Given the description of an element on the screen output the (x, y) to click on. 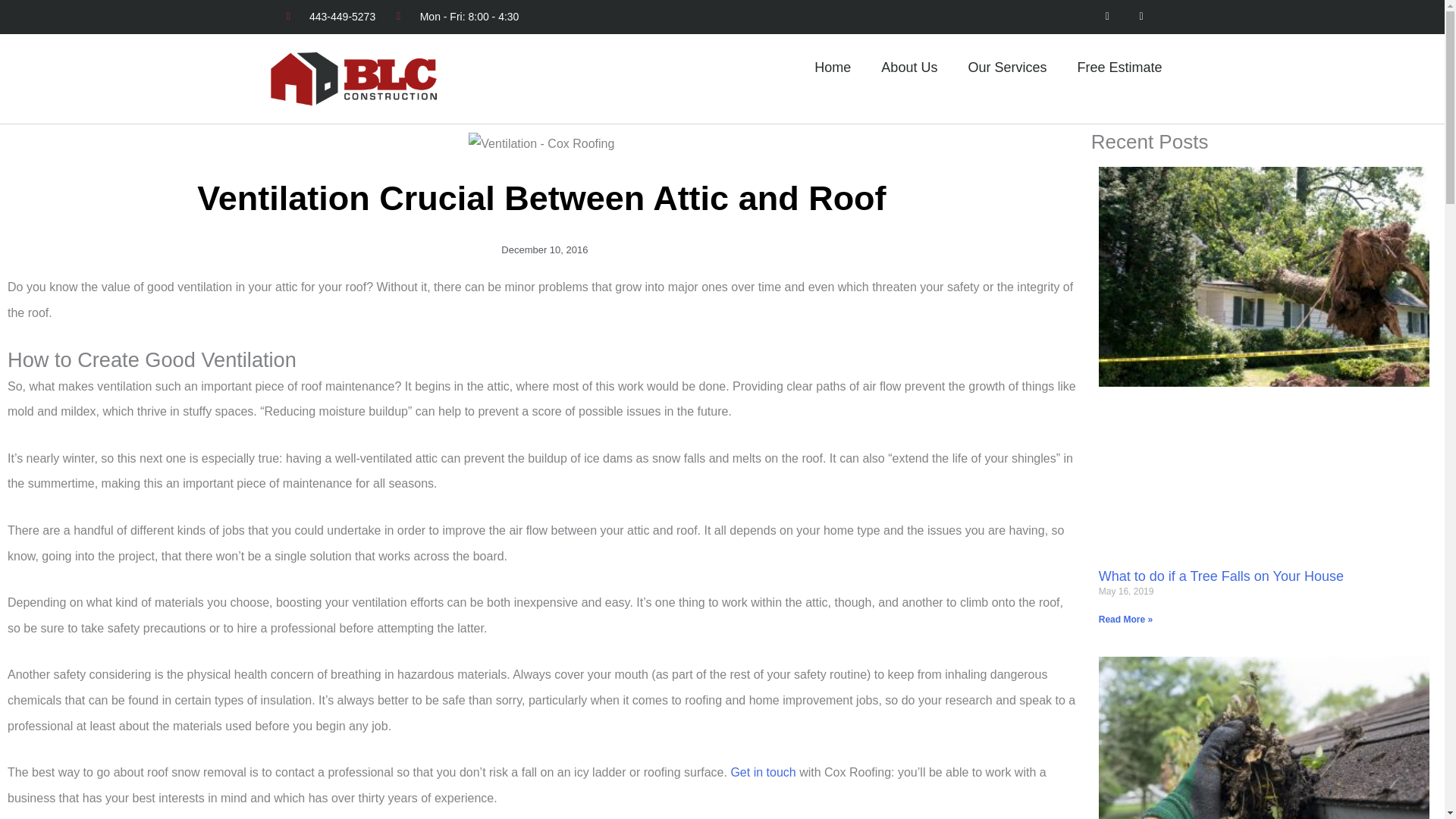
About Us (909, 67)
What to do if a Tree Falls on Your House (1221, 575)
Linkedin (1141, 17)
Facebook (1107, 17)
Our Services (1006, 67)
Get in touch (762, 771)
Free Estimate (1118, 67)
Home (832, 67)
